Given the description of an element on the screen output the (x, y) to click on. 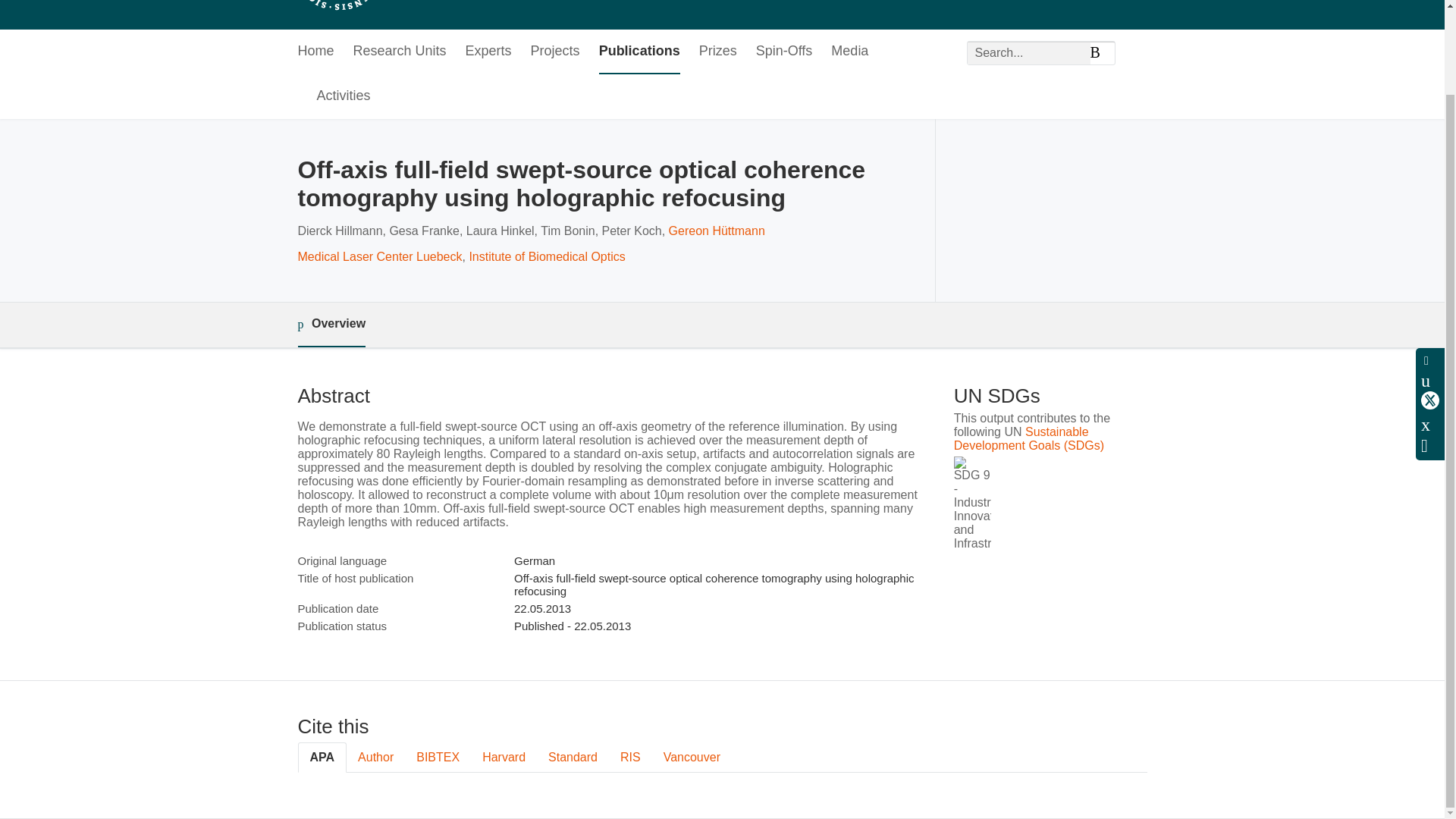
Activities (344, 96)
Overview (331, 324)
Spin-Offs (783, 51)
Publications (638, 51)
Medical Laser Center Luebeck (379, 256)
Research Units (399, 51)
Projects (555, 51)
Experts (488, 51)
University of Luebeck Home (438, 7)
Institute of Biomedical Optics (546, 256)
